Given the description of an element on the screen output the (x, y) to click on. 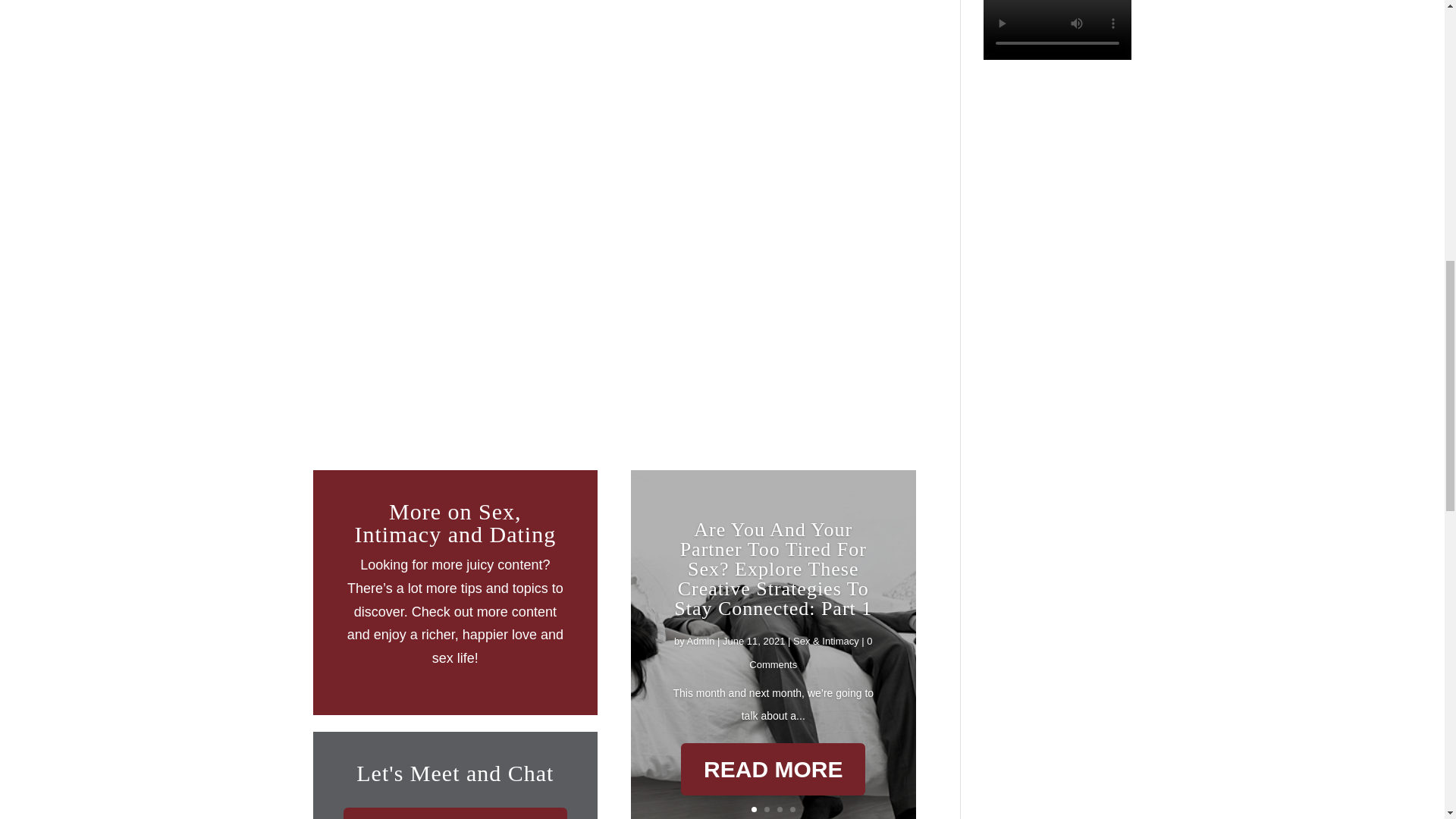
READ MORE (772, 796)
Admin (700, 674)
CONTACT MARIE-CLAIRE (454, 813)
Posts by Admin (700, 648)
